Given the description of an element on the screen output the (x, y) to click on. 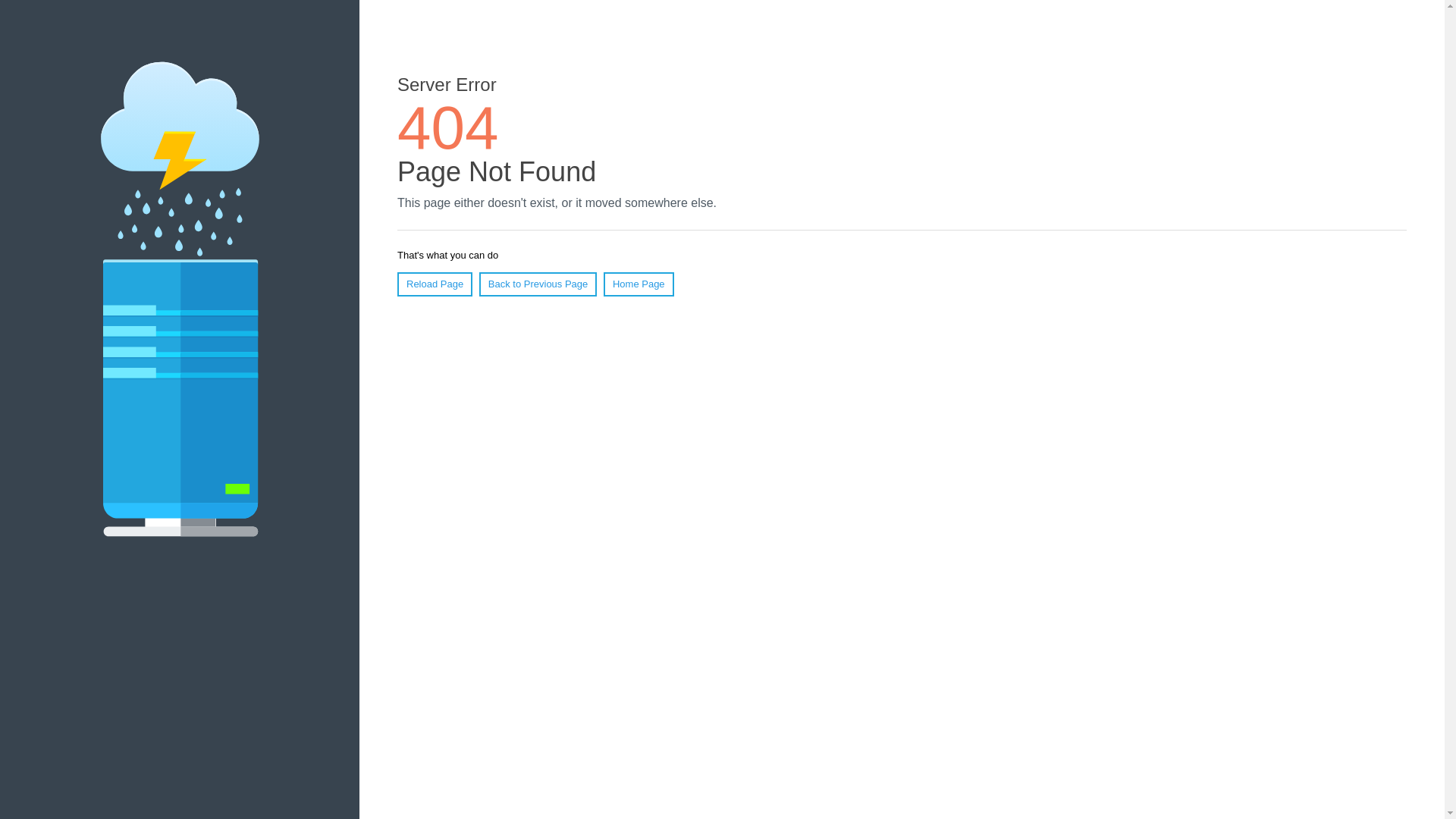
Back to Previous Page Element type: text (538, 284)
Reload Page Element type: text (434, 284)
Home Page Element type: text (638, 284)
